Given the description of an element on the screen output the (x, y) to click on. 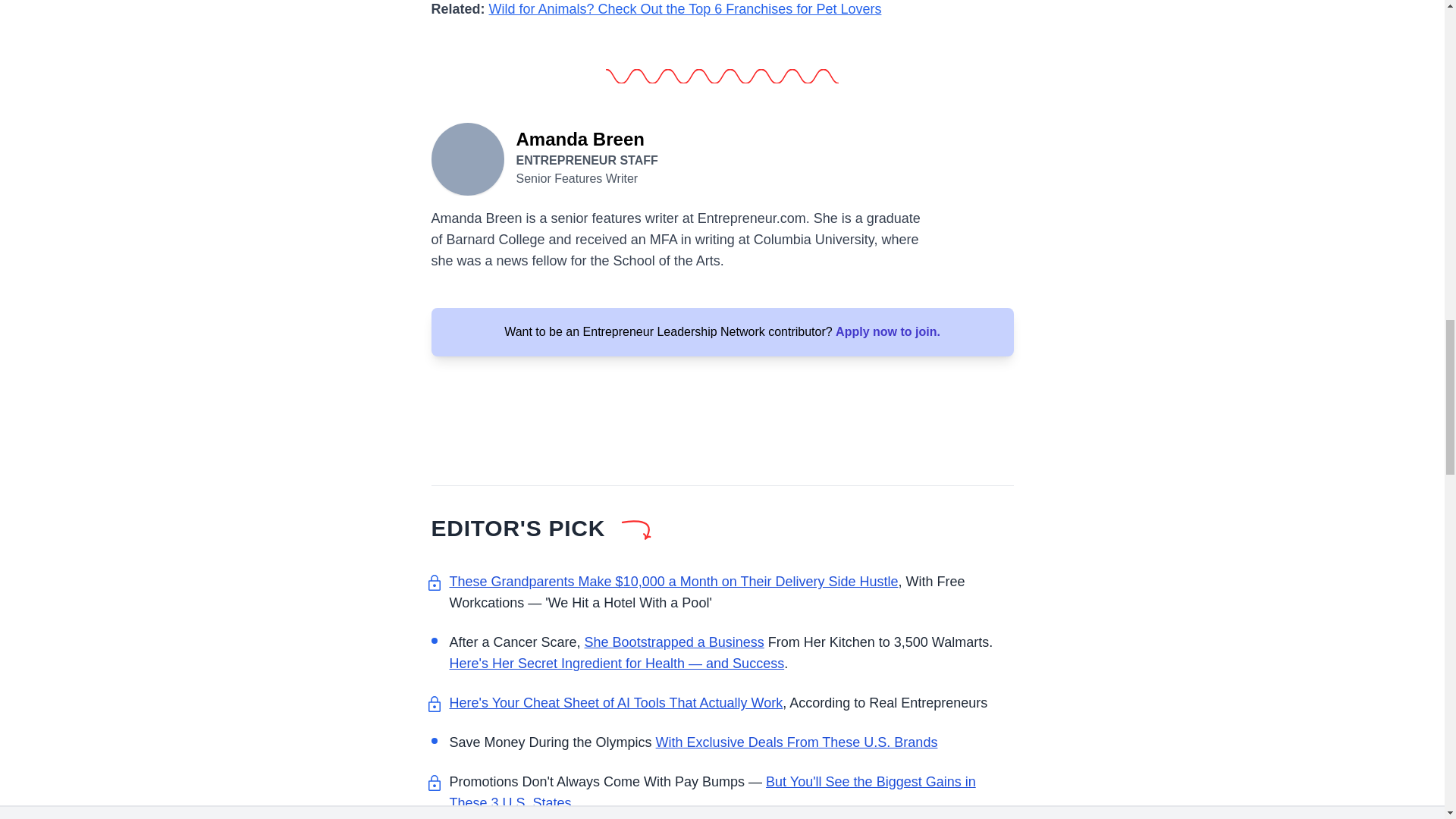
Amanda Breen (466, 157)
